Given the description of an element on the screen output the (x, y) to click on. 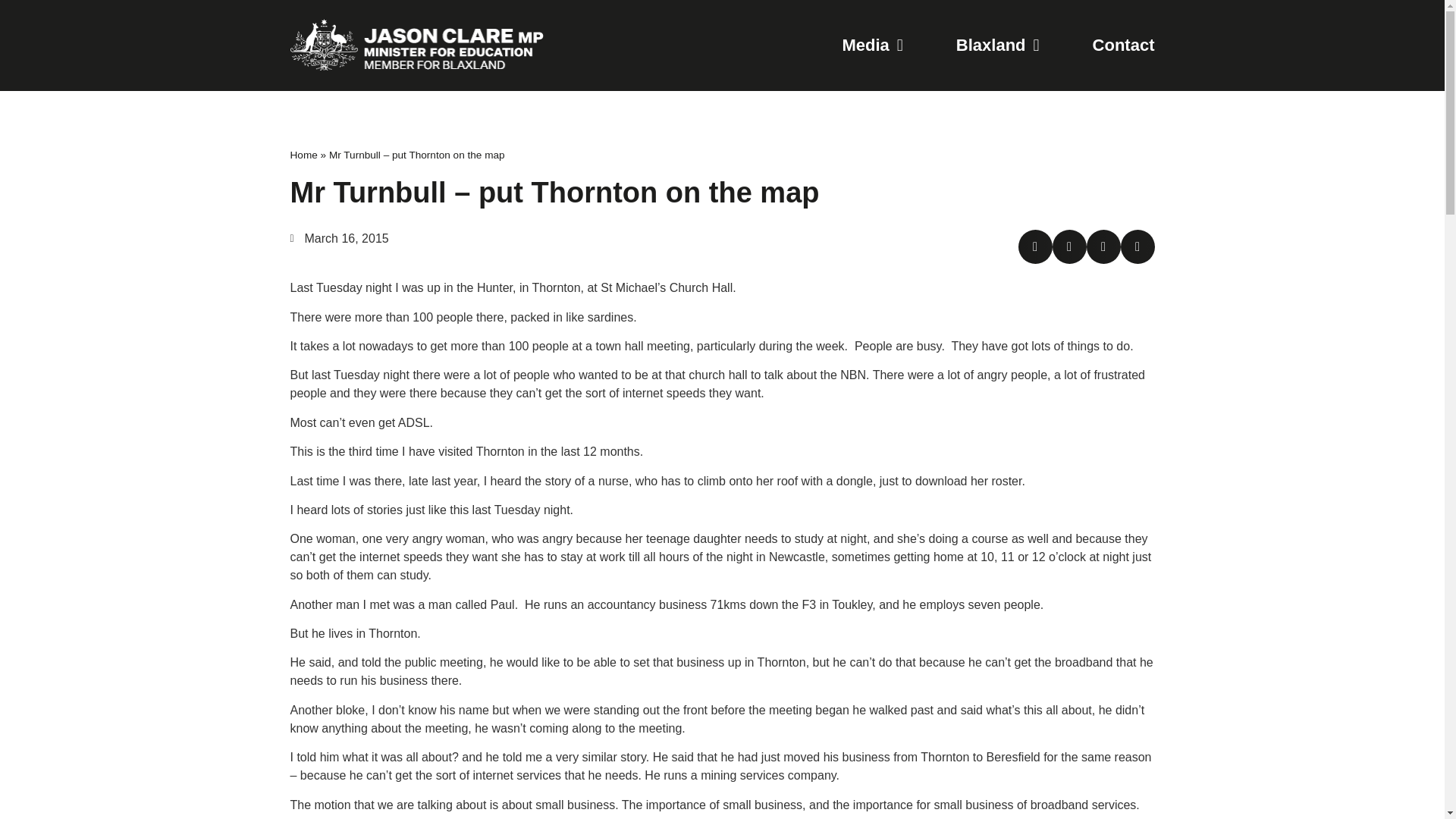
Contact (1123, 45)
Media (871, 45)
Blaxland (997, 45)
